Given the description of an element on the screen output the (x, y) to click on. 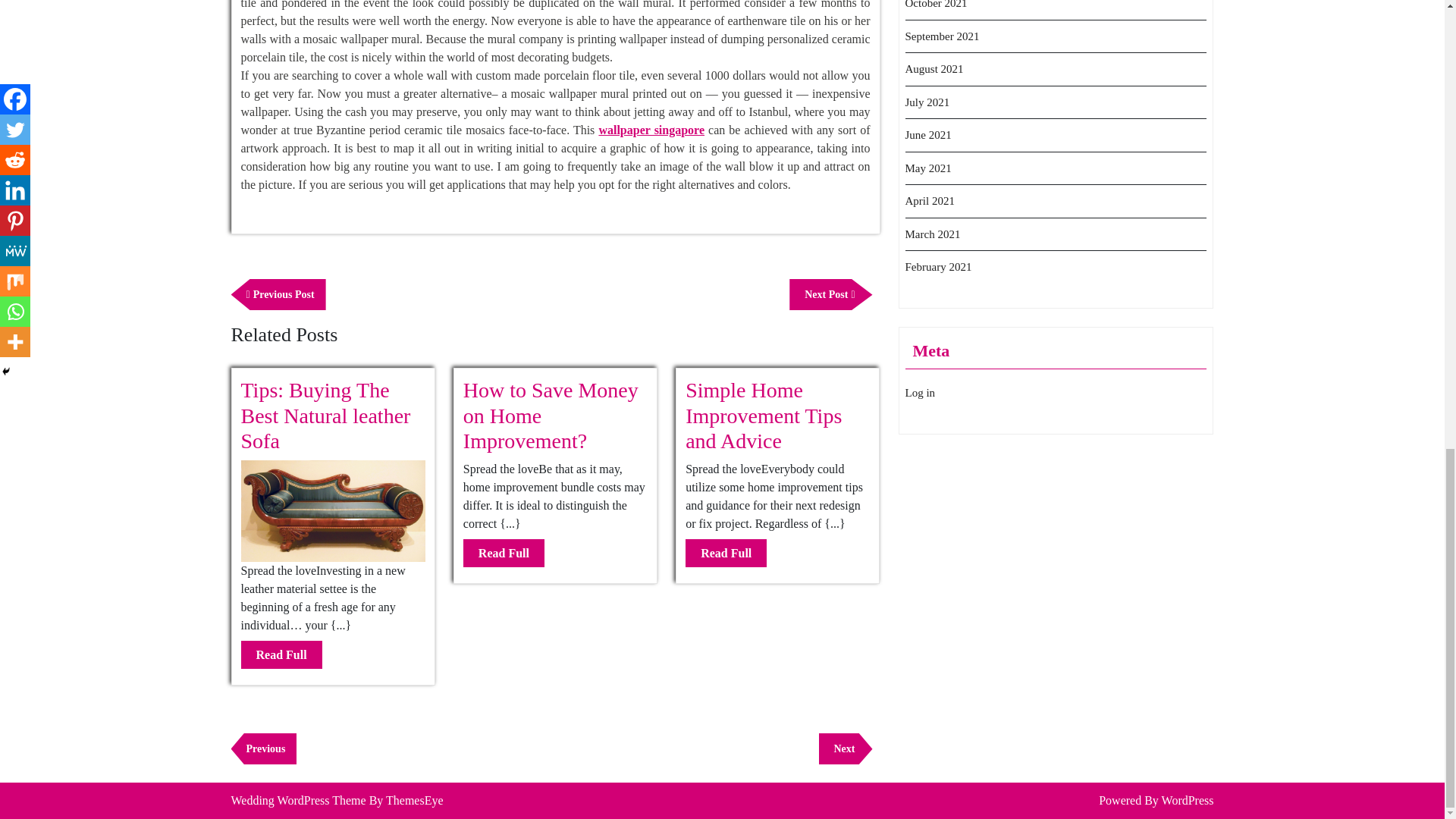
wallpaper singapore (503, 552)
